Given the description of an element on the screen output the (x, y) to click on. 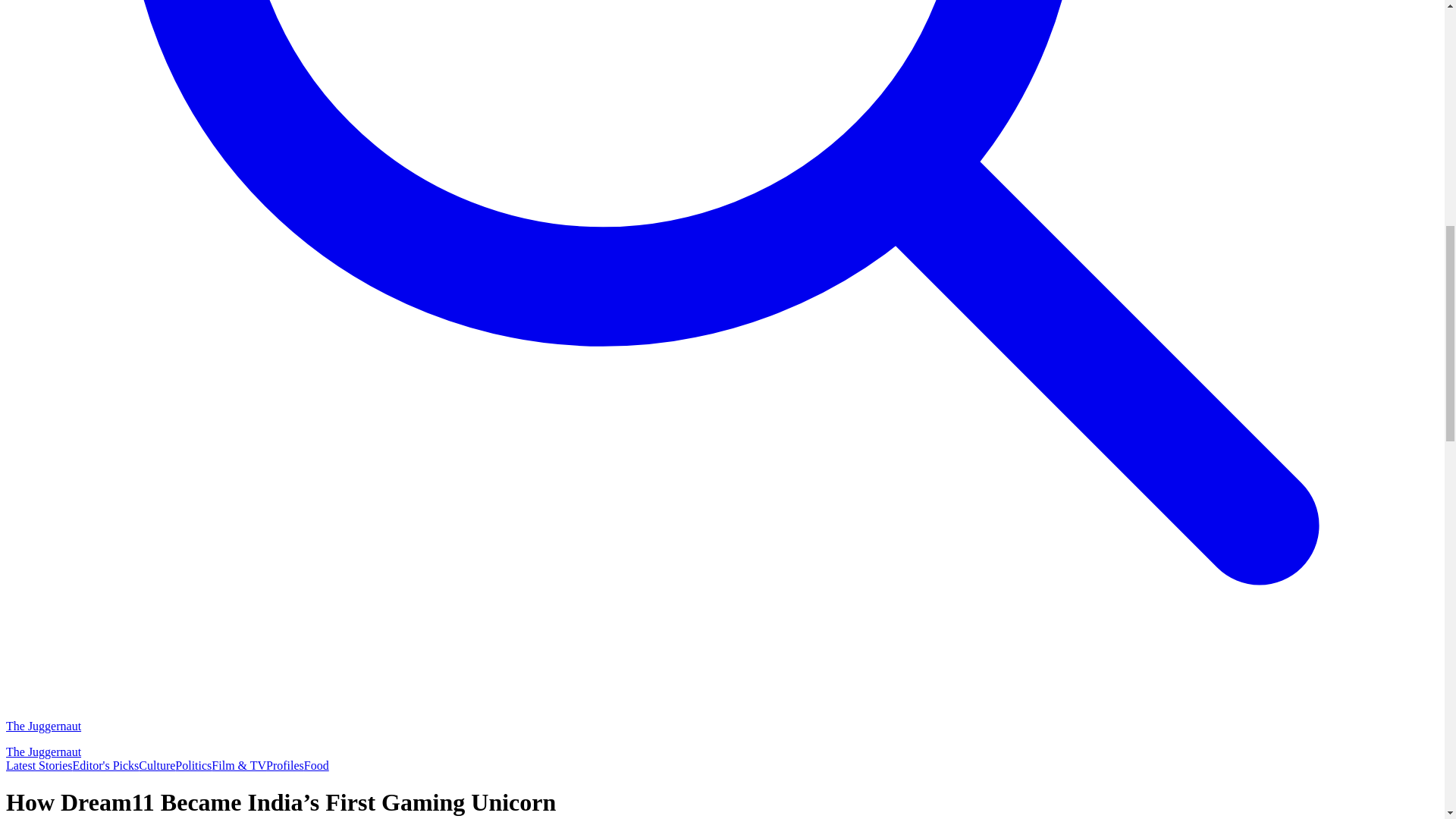
Food (316, 765)
Profiles (285, 765)
Editor's Picks (105, 765)
Culture (156, 765)
The Juggernaut (118, 725)
Latest Stories (38, 765)
The Juggernaut (118, 751)
Politics (192, 765)
